Given the description of an element on the screen output the (x, y) to click on. 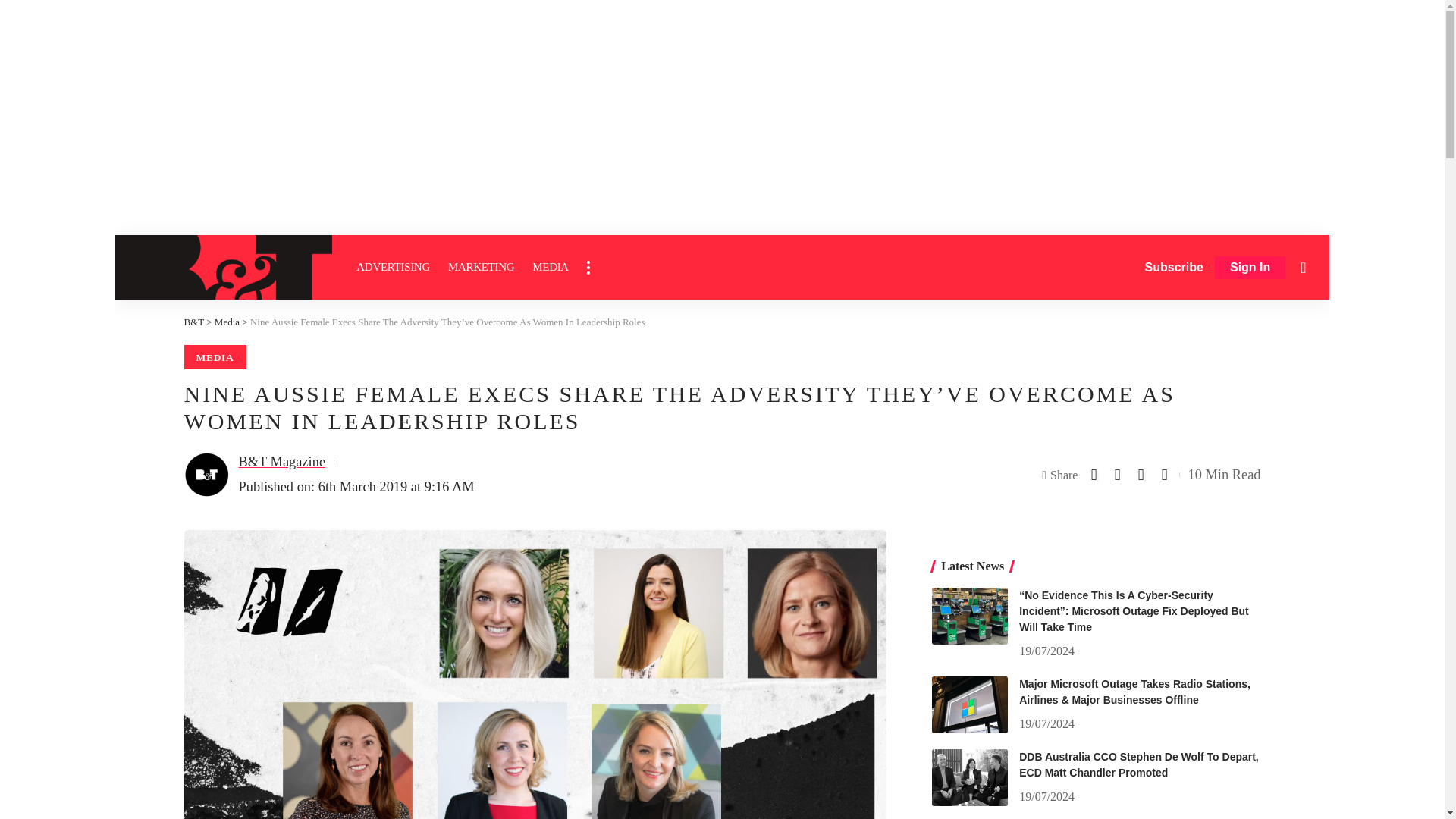
MARKETING (480, 267)
Go to the Media Category archives. (227, 321)
Subscribe (1174, 267)
ADVERTISING (393, 267)
Sign In (1249, 267)
